Given the description of an element on the screen output the (x, y) to click on. 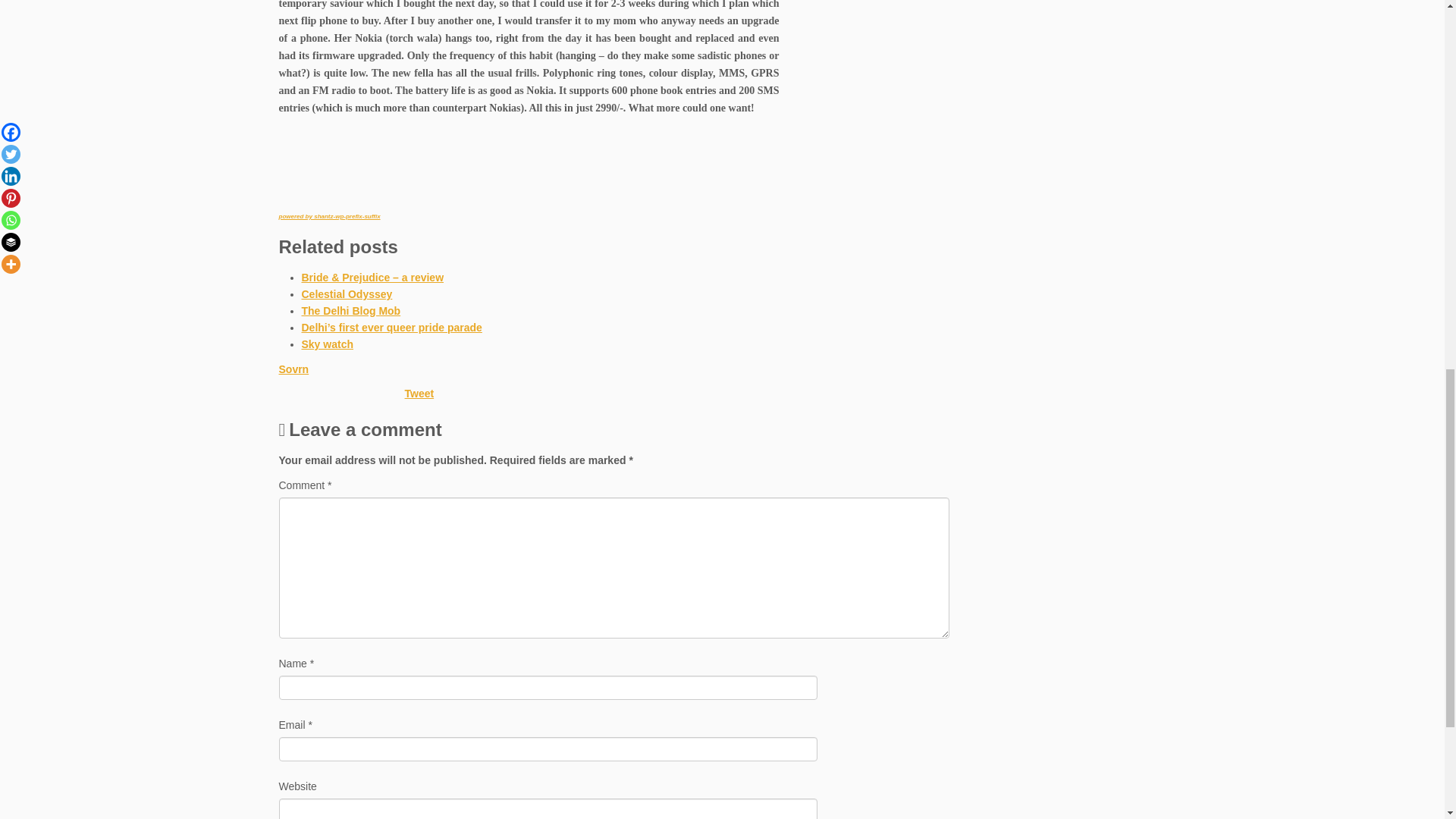
Sovrn (293, 369)
Tweet (418, 393)
powered by shantz-wp-prefix-suffix (329, 216)
The Delhi Blog Mob (351, 310)
Celestial Odyssey (347, 294)
Sky watch (327, 344)
